Given the description of an element on the screen output the (x, y) to click on. 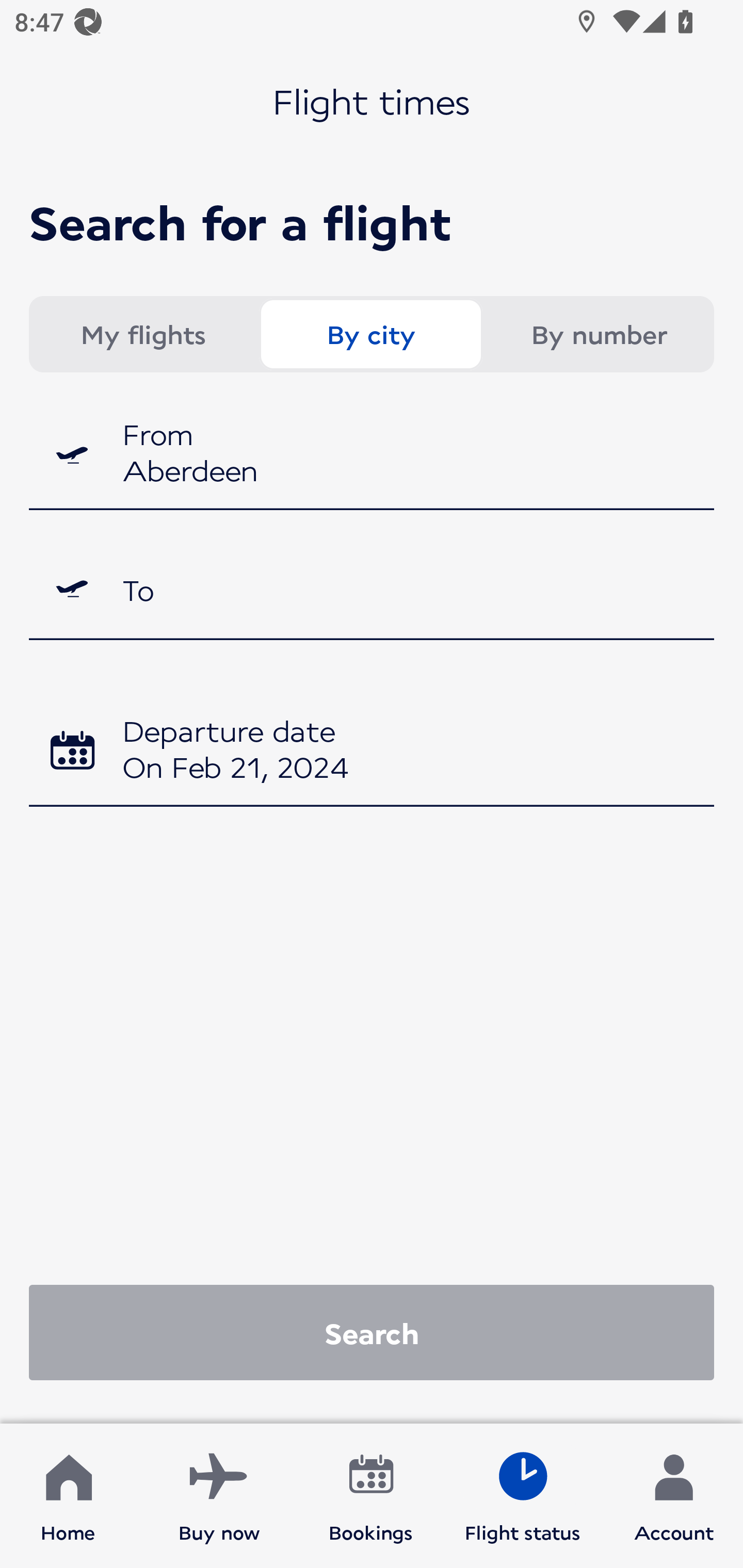
My flights (142, 334)
By city (370, 334)
By number (598, 334)
Aberdeen From (371, 455)
To (371, 589)
On Feb 21, 2024 Departure date (371, 751)
Search (371, 1331)
Home (68, 1495)
Buy now (219, 1495)
Bookings (370, 1495)
Account (674, 1495)
